Given the description of an element on the screen output the (x, y) to click on. 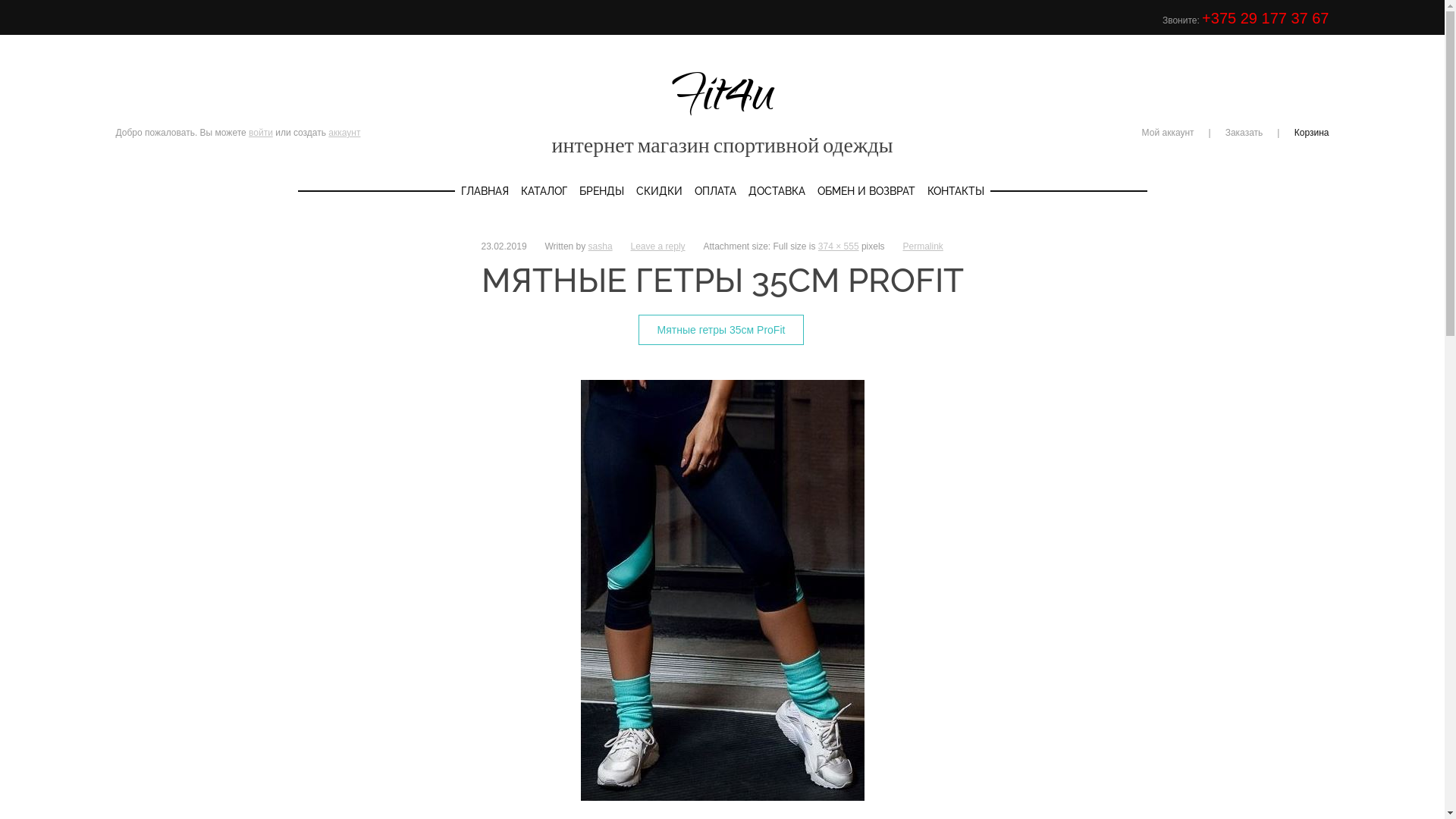
Leave a reply Element type: text (657, 246)
+375 29 177 37 67 Element type: text (1264, 17)
Permalink Element type: text (922, 246)
sasha Element type: text (600, 246)
